Given the description of an element on the screen output the (x, y) to click on. 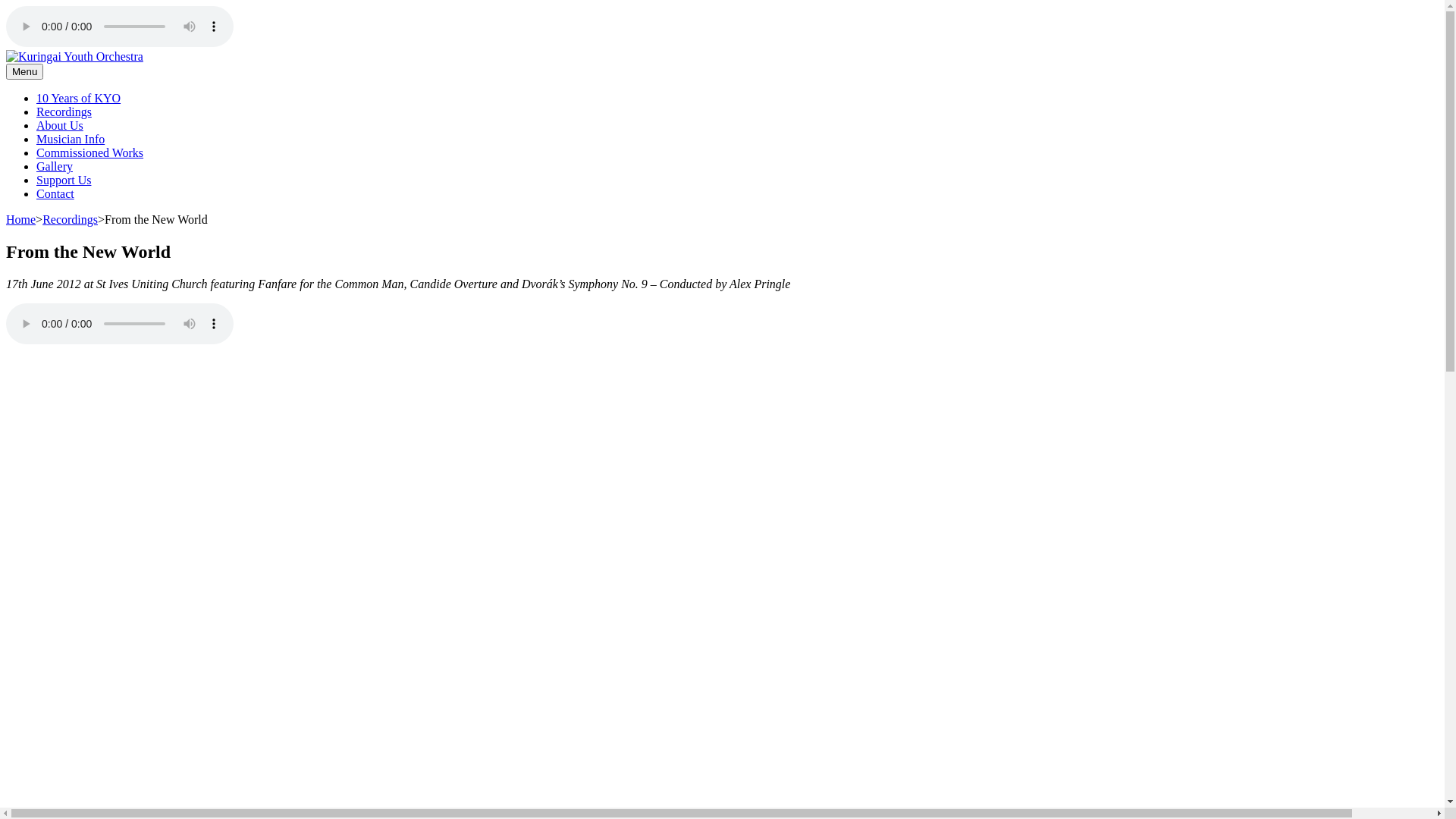
Musician Info Element type: text (70, 138)
Menu Element type: text (24, 71)
Recordings Element type: text (63, 111)
Contact Element type: text (55, 193)
Home Element type: text (20, 219)
Kuringai Youth Orchestra Element type: text (68, 81)
Skip to content Element type: text (6, 6)
Gallery Element type: text (54, 166)
Recordings Element type: text (69, 219)
Commissioned Works Element type: text (89, 152)
Support Us Element type: text (63, 179)
About Us Element type: text (59, 125)
10 Years of KYO Element type: text (78, 97)
